Given the description of an element on the screen output the (x, y) to click on. 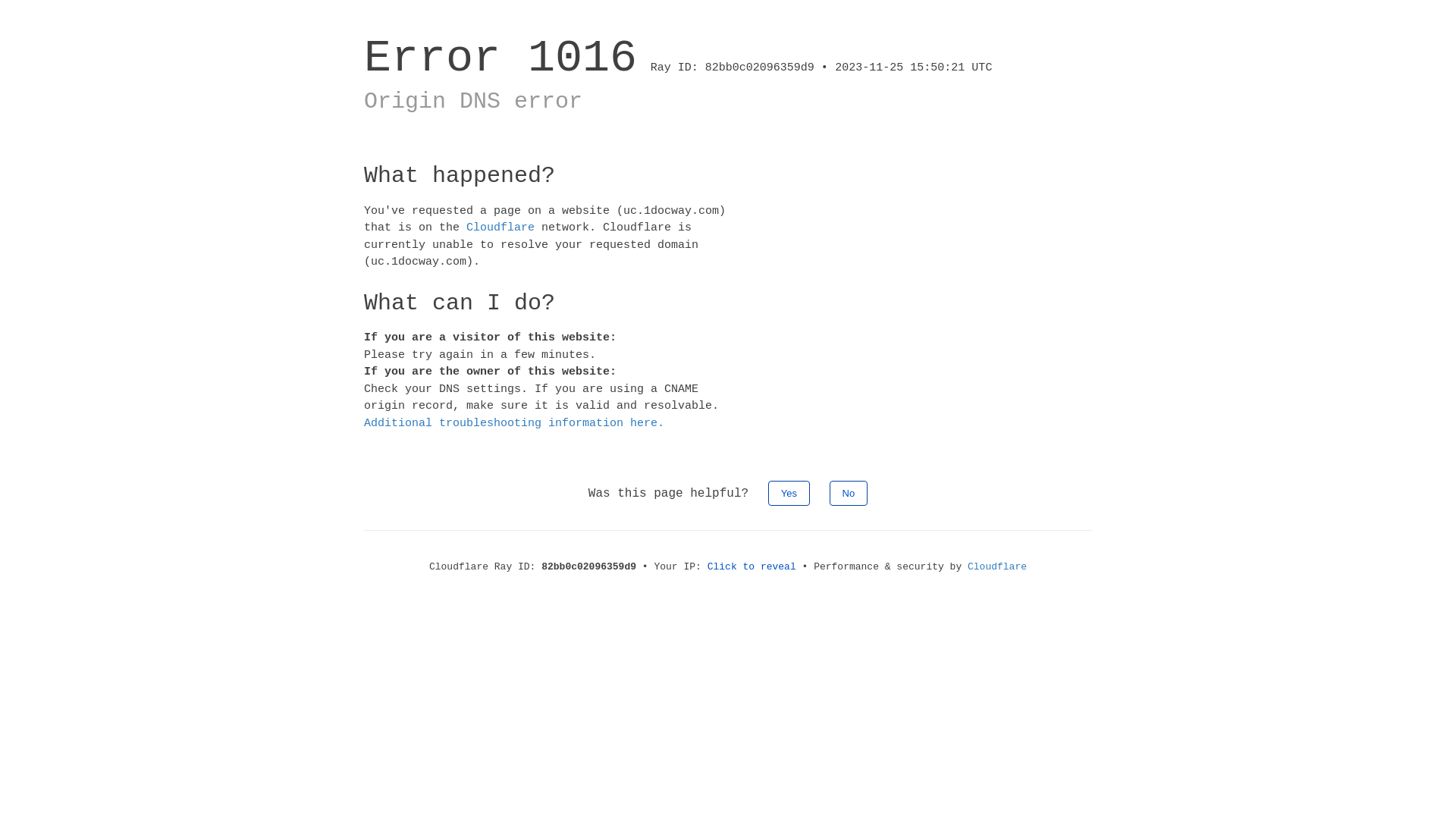
Yes Element type: text (788, 492)
Click to reveal Element type: text (751, 566)
Additional troubleshooting information here. Element type: text (514, 423)
Cloudflare Element type: text (996, 566)
No Element type: text (848, 492)
Cloudflare Element type: text (500, 227)
